Given the description of an element on the screen output the (x, y) to click on. 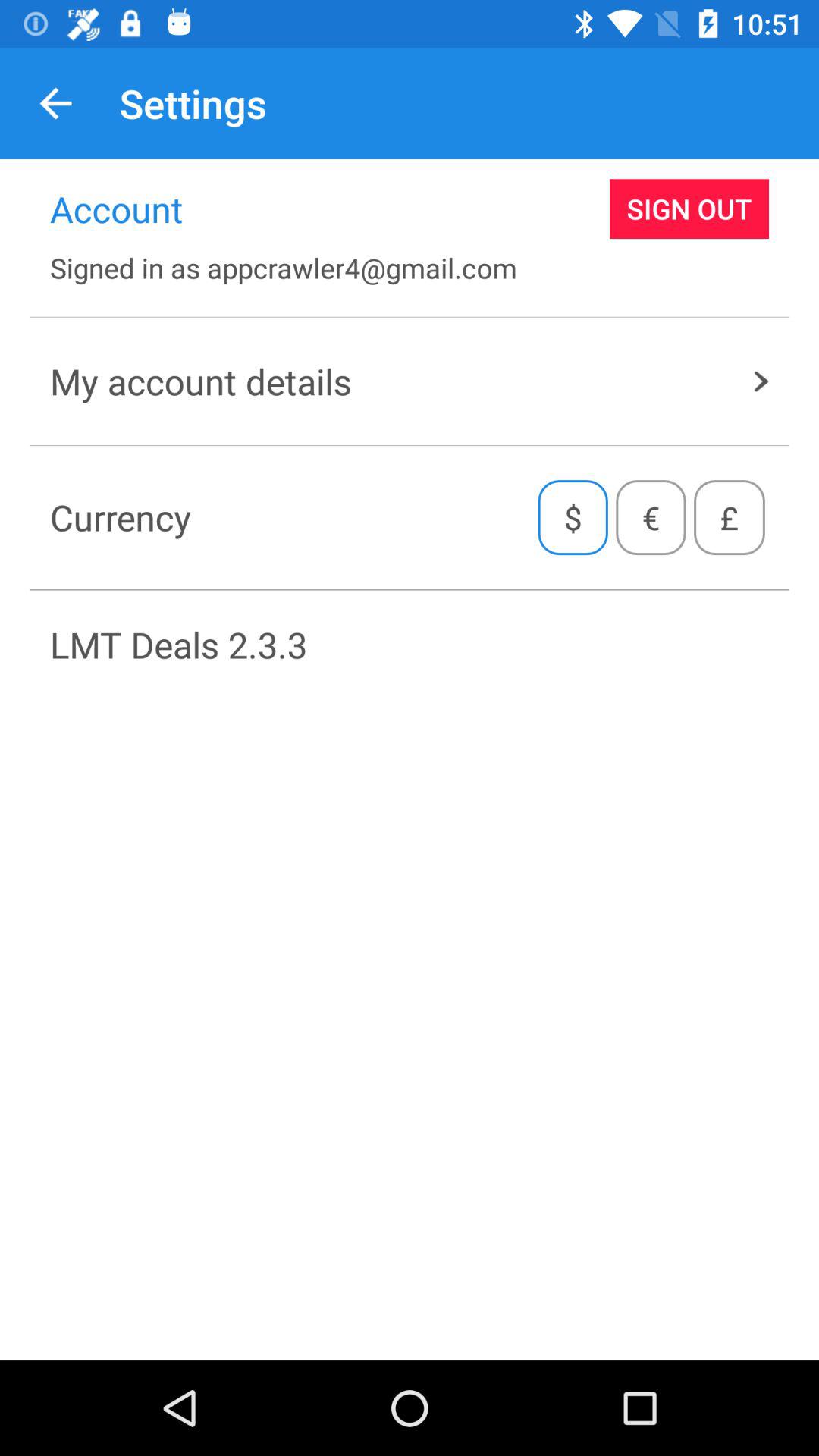
open app next to the settings item (55, 103)
